Given the description of an element on the screen output the (x, y) to click on. 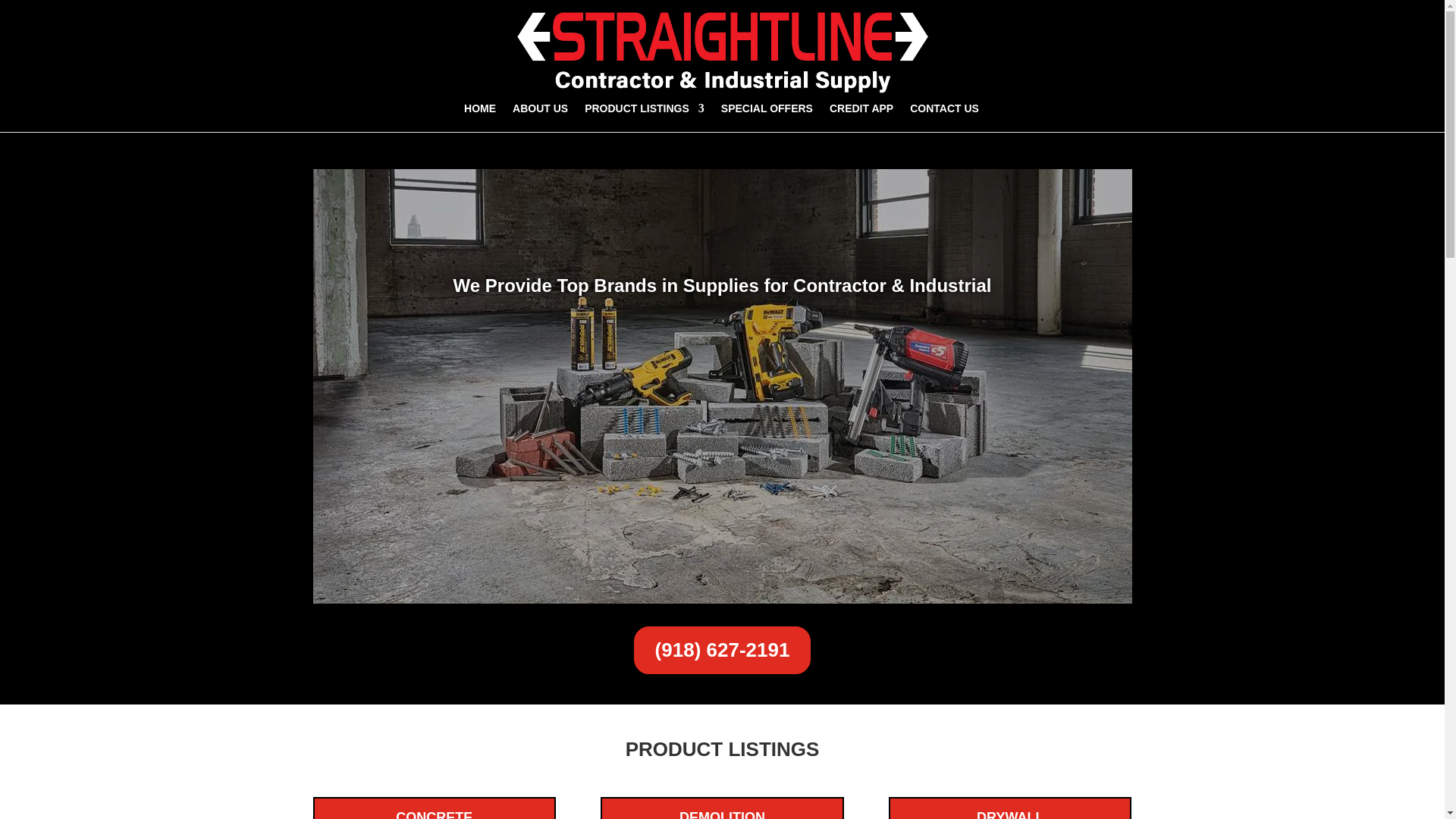
ABOUT US (539, 117)
SPECIAL OFFERS (766, 117)
CONTACT US (944, 117)
HOME (480, 117)
PRODUCT LISTINGS (644, 117)
CREDIT APP (861, 117)
